Given the description of an element on the screen output the (x, y) to click on. 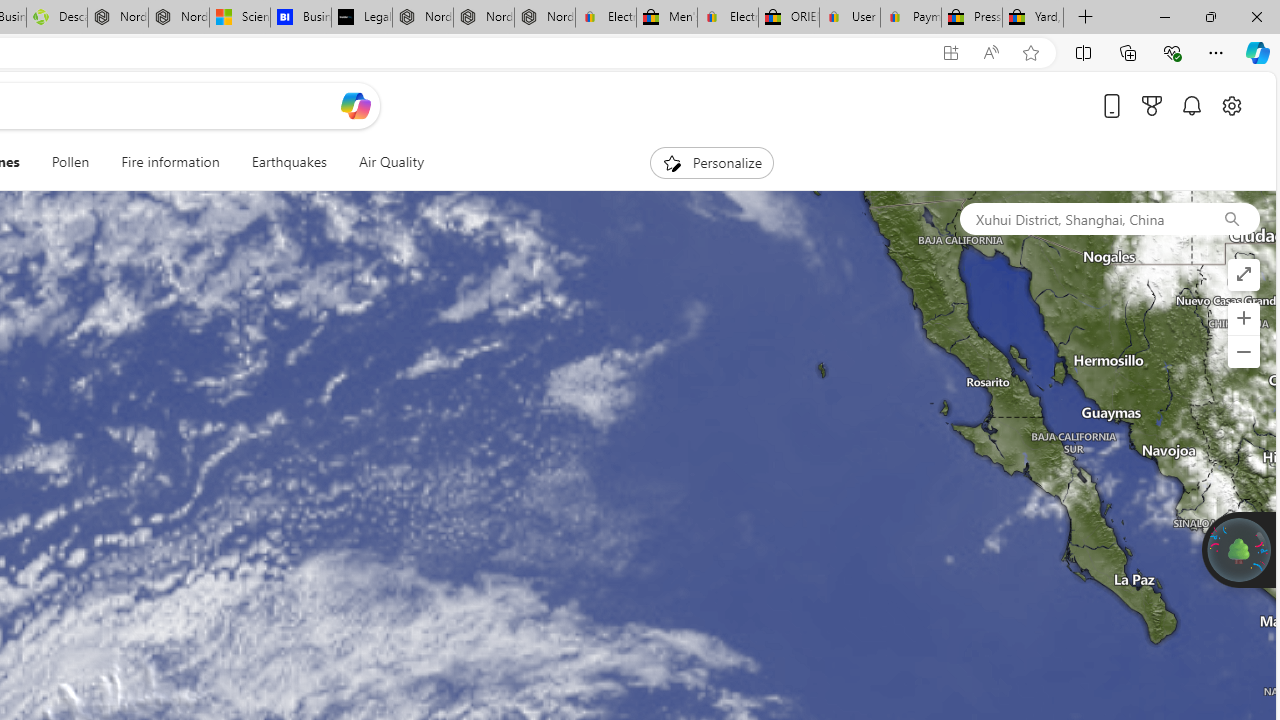
Air Quality (390, 162)
Pollen (70, 162)
Fire information (169, 162)
Earthquakes (289, 162)
Fire information (170, 162)
Join us in planting real trees to help our planet! (1239, 549)
